Given the description of an element on the screen output the (x, y) to click on. 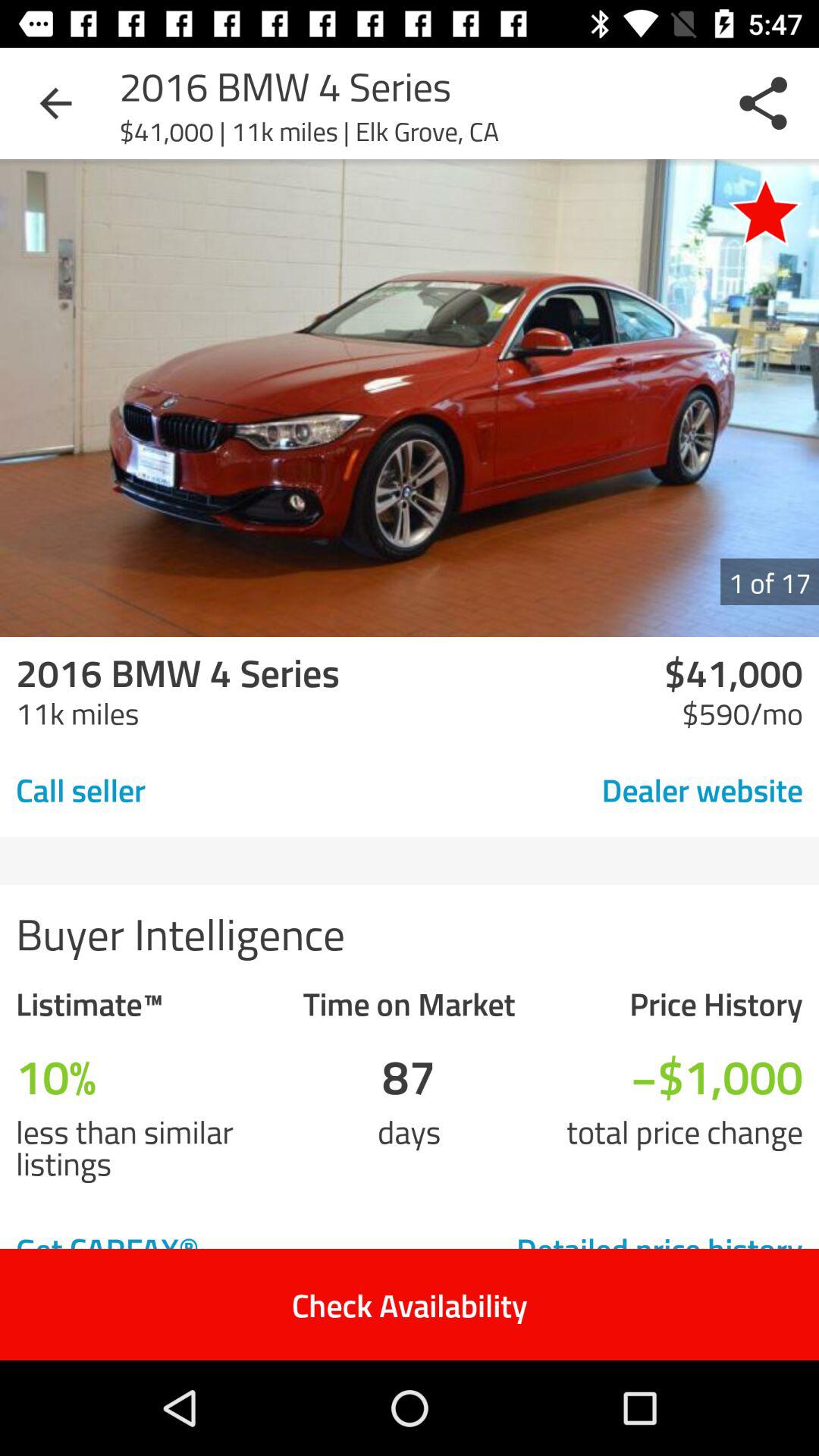
turn on the item next to dealer website icon (186, 789)
